Given the description of an element on the screen output the (x, y) to click on. 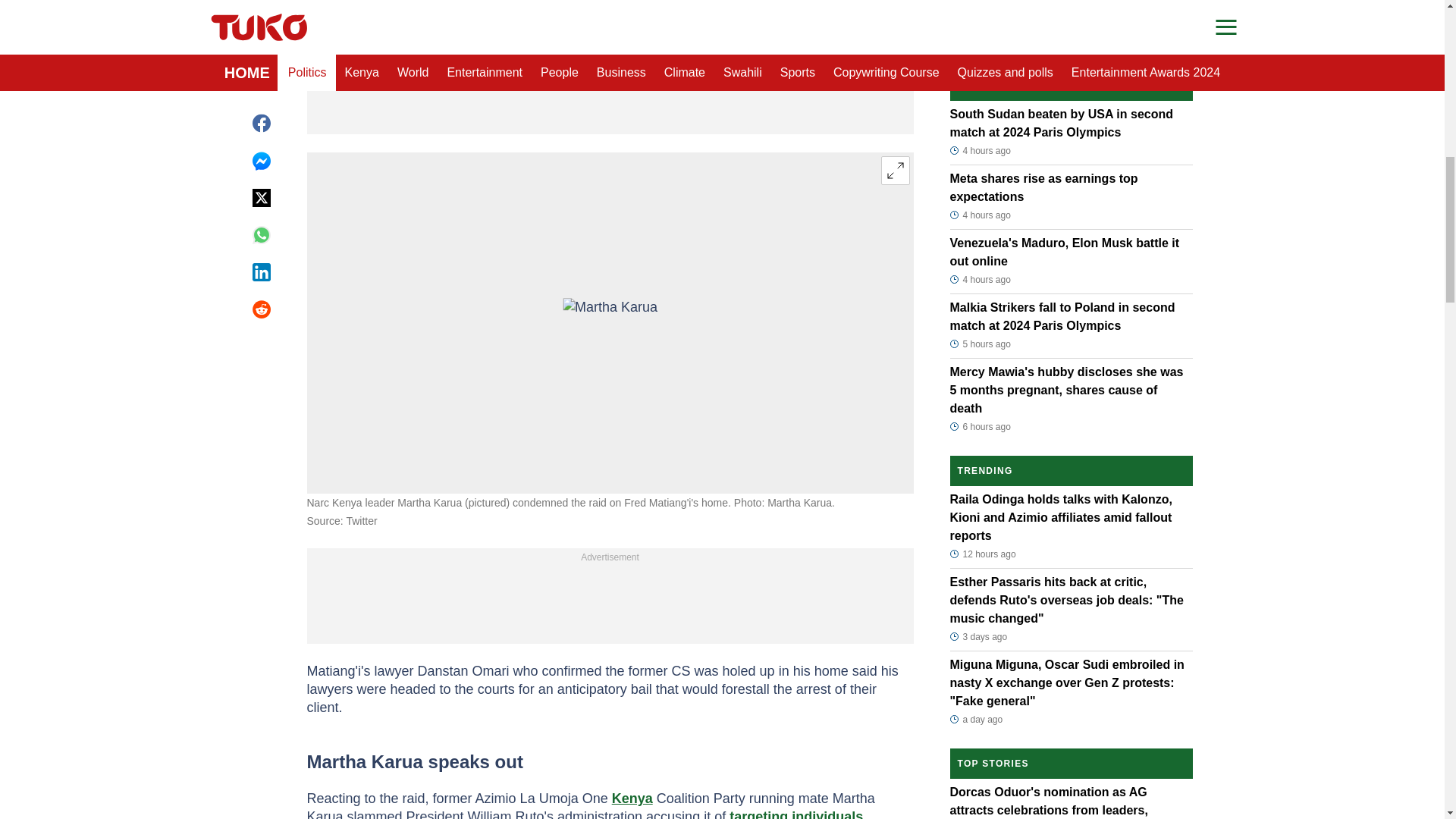
Martha Karua (610, 323)
Expand image (895, 170)
